Given the description of an element on the screen output the (x, y) to click on. 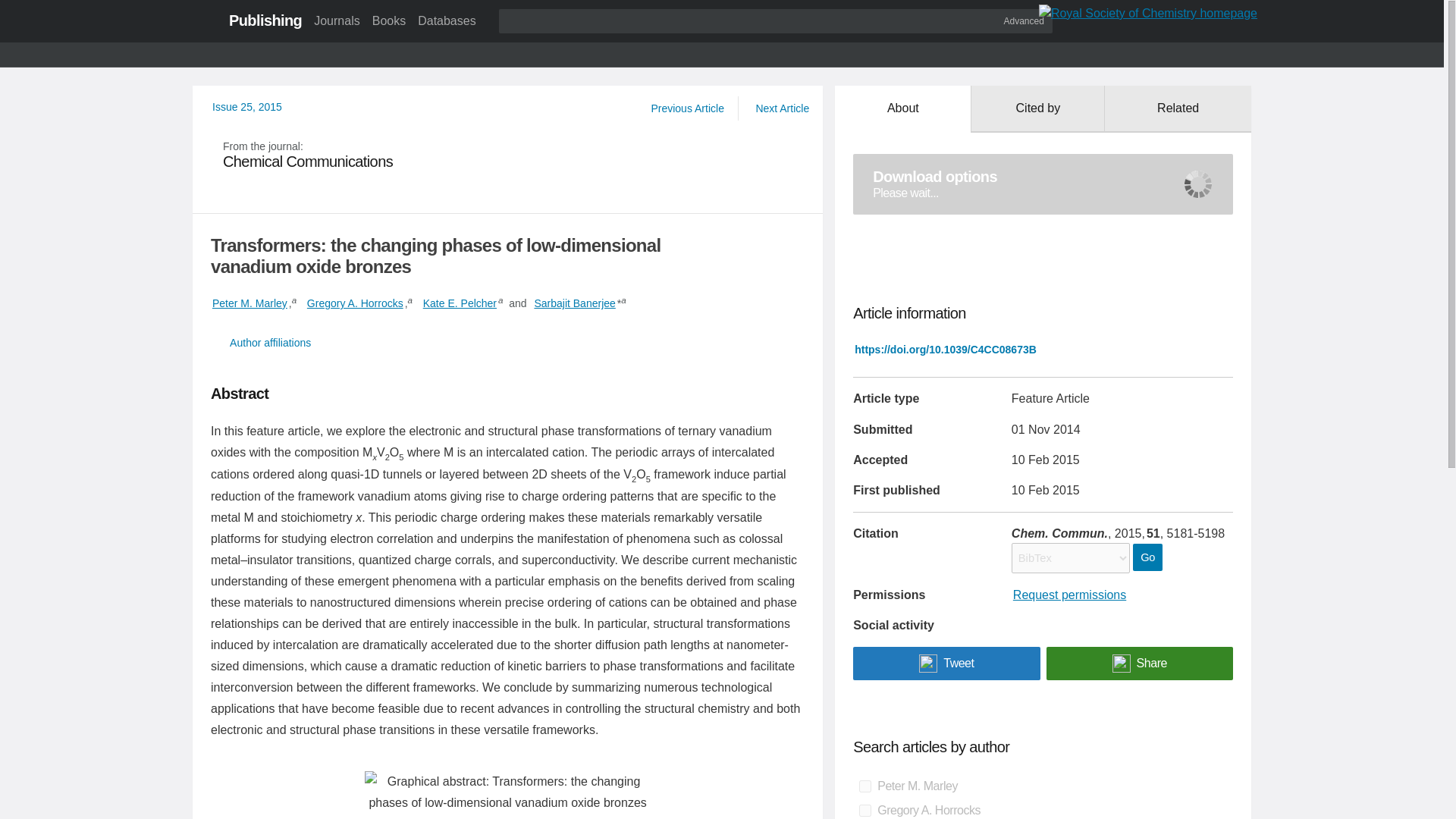
Next Article (781, 107)
Go (1146, 556)
Books (389, 20)
Go (1146, 556)
Gregory A. Horrocks (354, 303)
on (864, 786)
Kate E. Pelcher (459, 303)
Advanced (1023, 20)
Journals (336, 20)
Publishing (264, 20)
Issue 25, 2015 (247, 106)
Cited by (1037, 108)
Link to landing page via DOI (945, 349)
Related (1177, 108)
Publishing home page (264, 20)
